Given the description of an element on the screen output the (x, y) to click on. 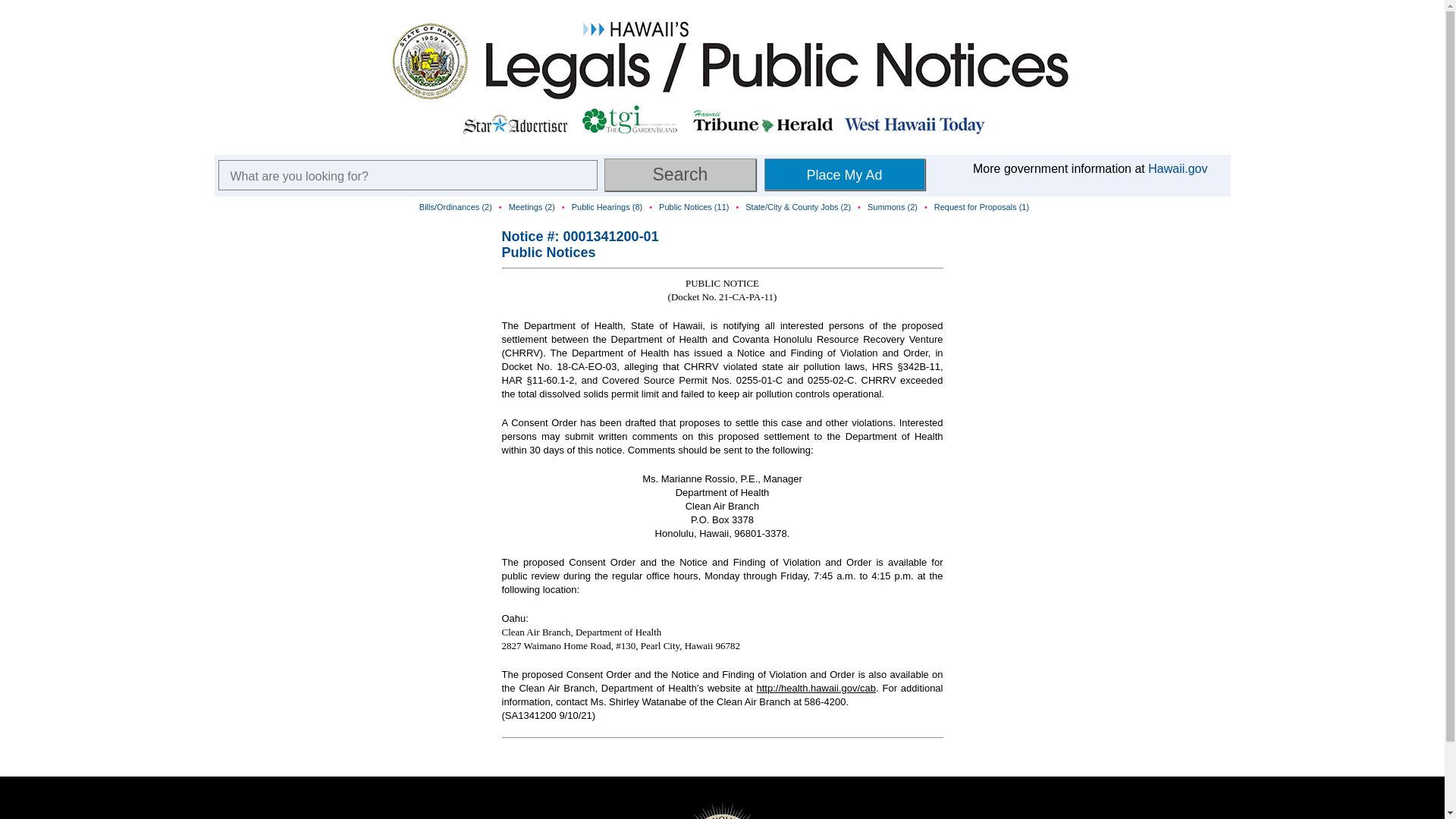
Public Notices (548, 252)
Hawaii.gov (1177, 168)
Place My Ad (844, 174)
Search (679, 174)
Search for: (407, 174)
Search (679, 174)
